Given the description of an element on the screen output the (x, y) to click on. 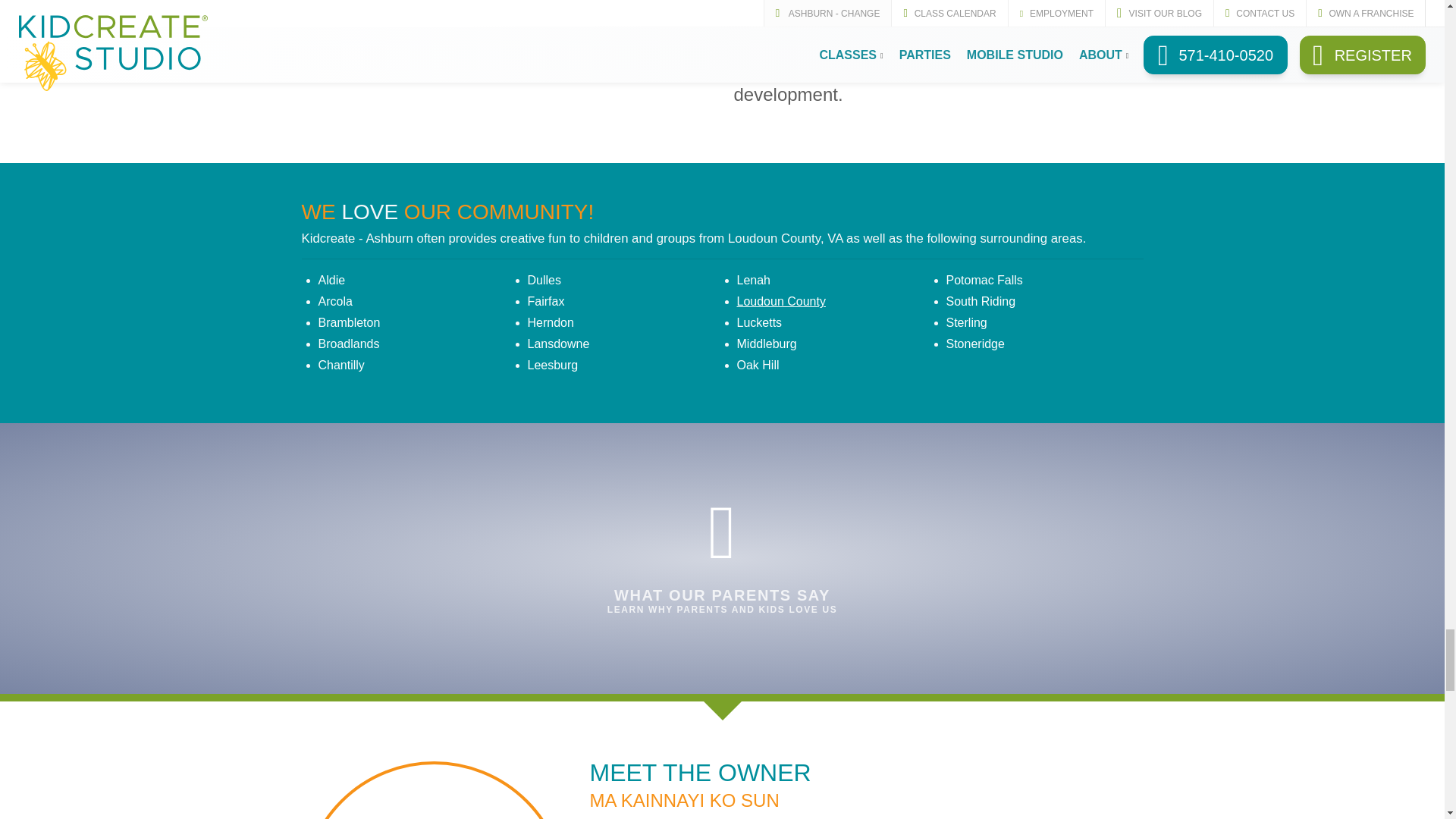
Children's Art Studio (491, 81)
